Given the description of an element on the screen output the (x, y) to click on. 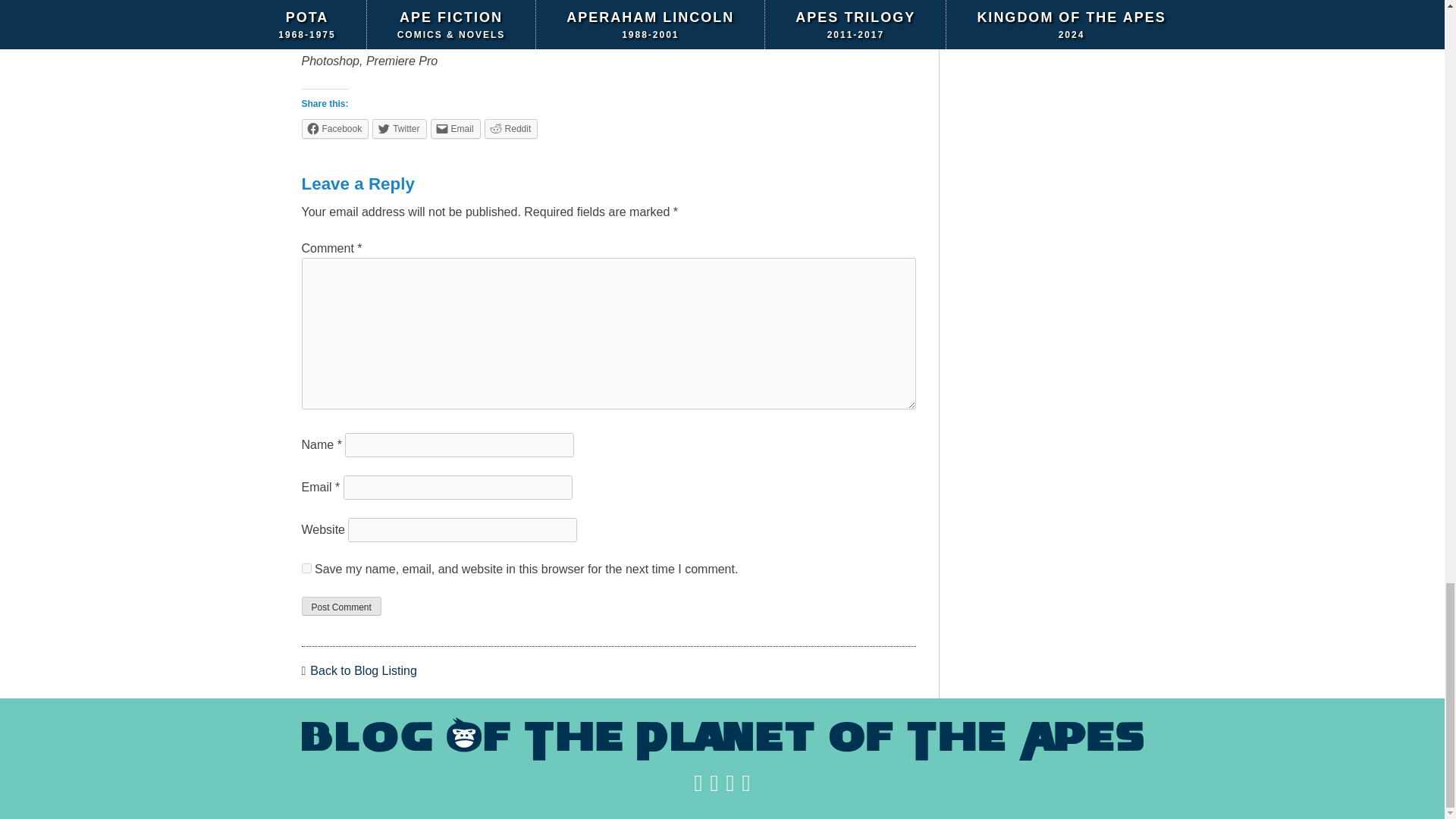
Post Comment (341, 605)
Twitter (399, 127)
Email (455, 127)
Facebook (335, 127)
yes (306, 567)
Click to share on Reddit (511, 127)
Check out the full storyboard for the project here. (444, 6)
Reddit (511, 127)
Click to share on Facebook (335, 127)
Click to share on Twitter (399, 127)
Post Comment (341, 605)
Click to email a link to a friend (455, 127)
Back to Blog Listing (358, 670)
